Given the description of an element on the screen output the (x, y) to click on. 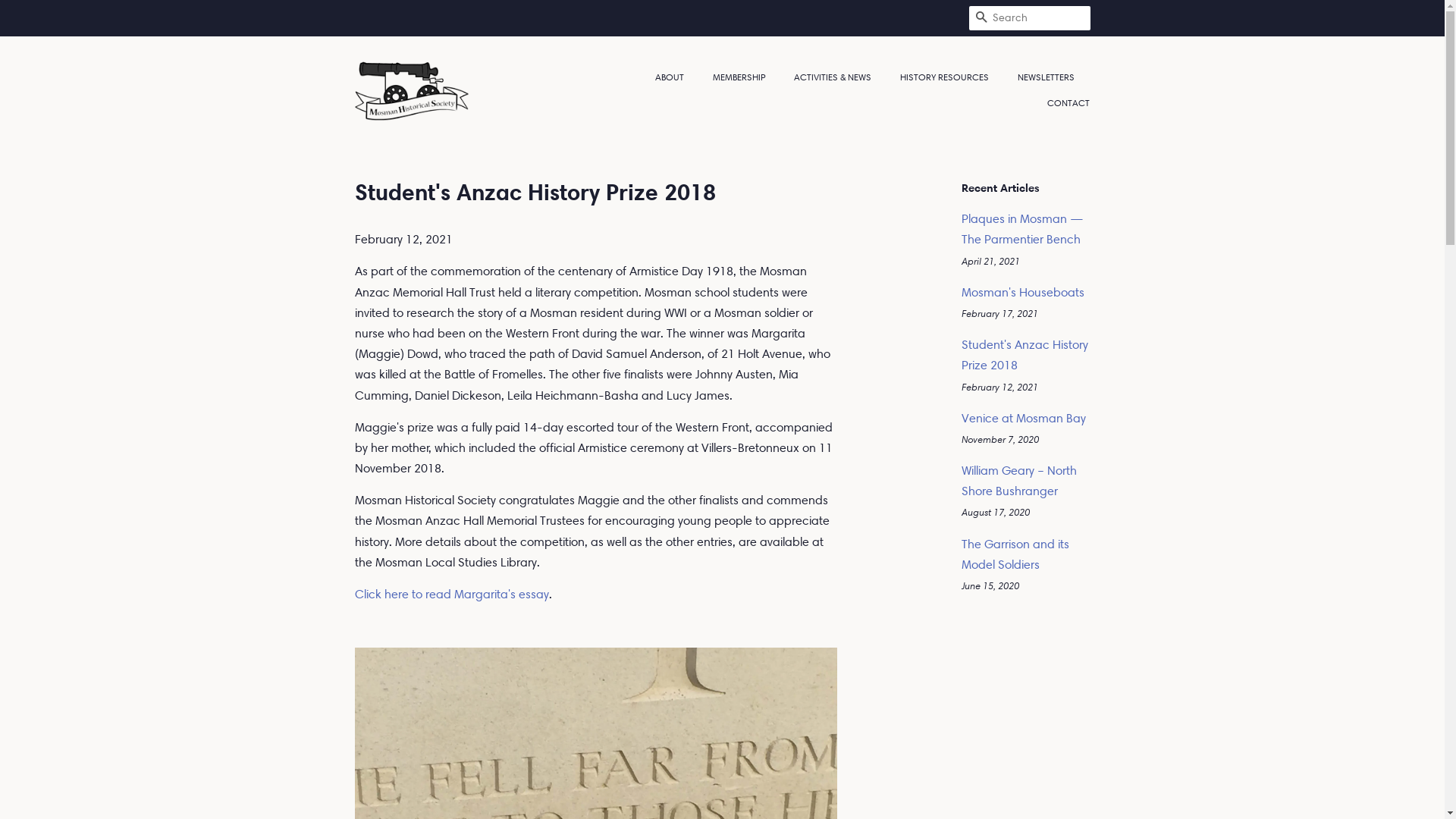
The Garrison and its Model Soldiers Element type: text (1015, 553)
NEWSLETTERS Element type: text (1047, 77)
HISTORY RESOURCES Element type: text (946, 77)
Click here to read Margarita's essay Element type: text (451, 593)
Venice at Mosman Bay Element type: text (1023, 418)
Mosman's Houseboats Element type: text (1022, 292)
MEMBERSHIP Element type: text (740, 77)
ABOUT Element type: text (677, 77)
CONTACT Element type: text (1062, 103)
Student's Anzac History Prize 2018 Element type: text (1024, 354)
SEARCH Element type: text (981, 18)
ACTIVITIES & NEWS Element type: text (834, 77)
